Given the description of an element on the screen output the (x, y) to click on. 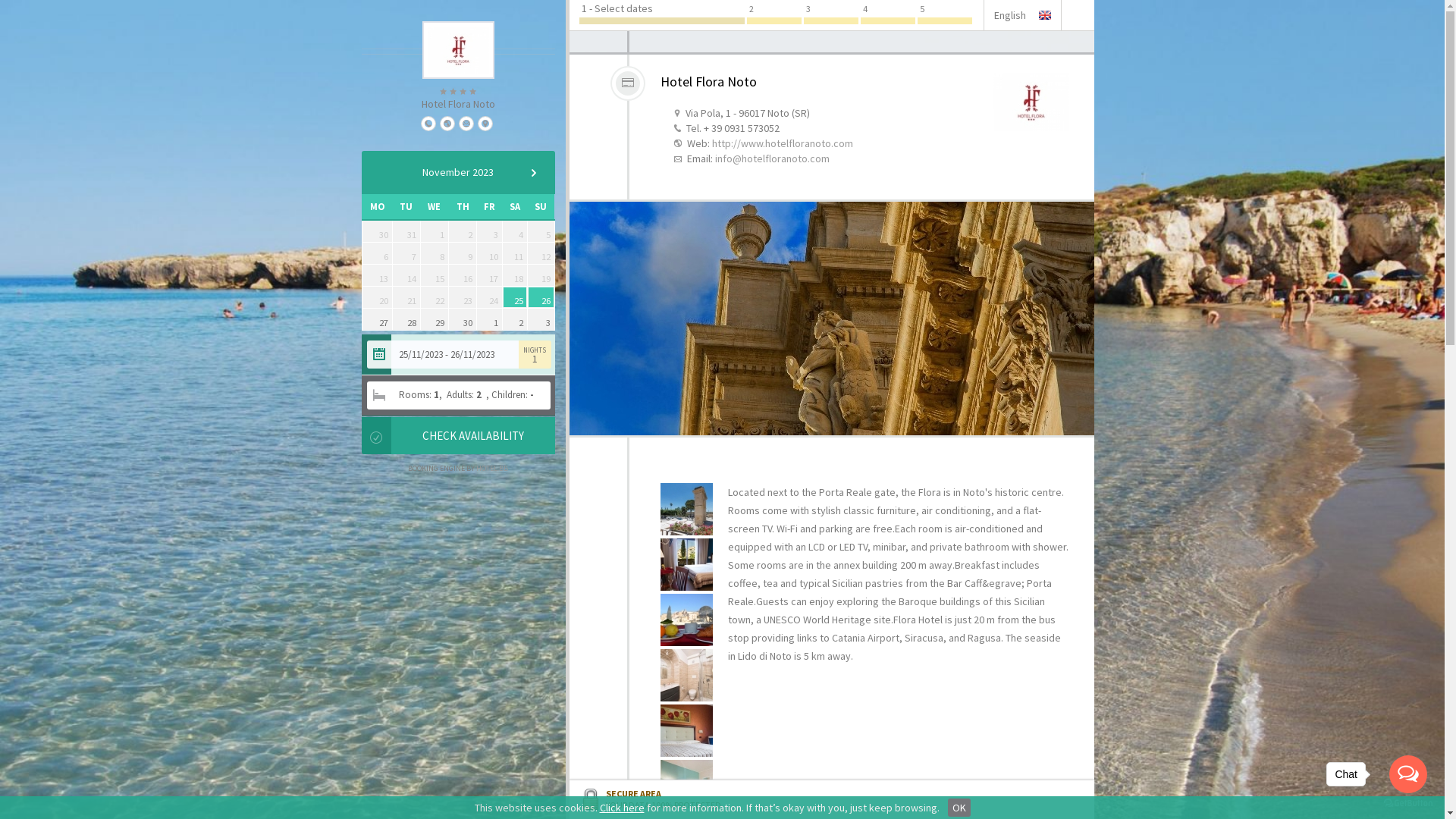
info@hotelfloranoto.com Element type: text (771, 158)
28 Element type: text (406, 319)
http://www.hotelfloranoto.com Element type: text (781, 143)
Click here Element type: text (621, 807)
1 Element type: text (489, 319)
HOTEL.BB Element type: text (492, 468)
CHECK AVAILABILITY Element type: text (472, 435)
27 Element type: text (376, 319)
Prev Element type: text (382, 172)
OK Element type: text (958, 807)
3 Element type: text (540, 319)
Next Element type: text (532, 172)
26 Element type: text (540, 297)
2 Element type: text (514, 319)
29 Element type: text (434, 319)
30 Element type: text (462, 319)
25 Element type: text (514, 297)
